Given the description of an element on the screen output the (x, y) to click on. 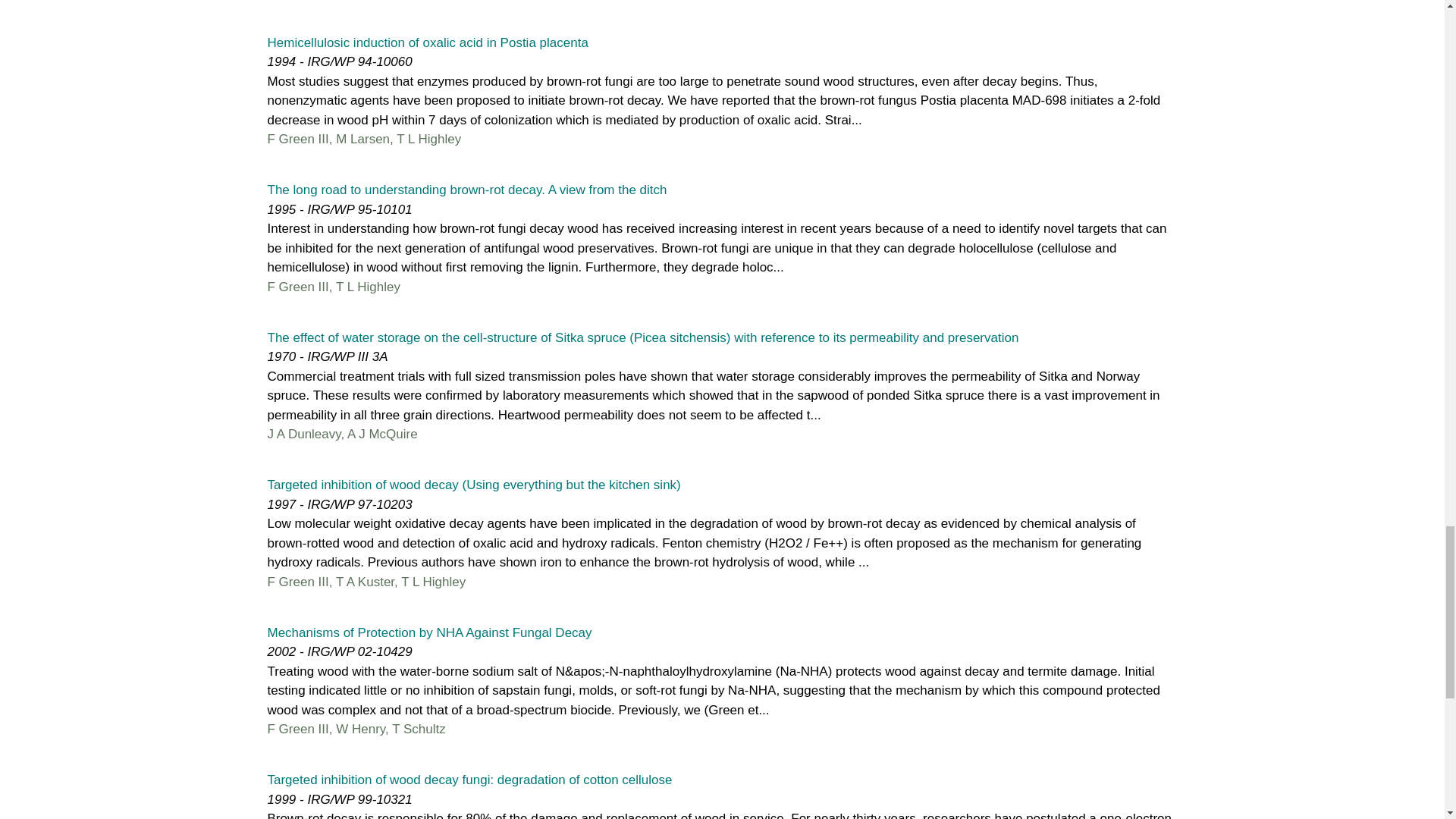
Click for more information about document. (466, 189)
Mechanisms of Protection by NHA Against Fungal Decay (428, 631)
Hemicellulosic induction of oxalic acid in Postia placenta (427, 42)
Click for more information about document. (427, 42)
Click for more information about document. (641, 337)
